Given the description of an element on the screen output the (x, y) to click on. 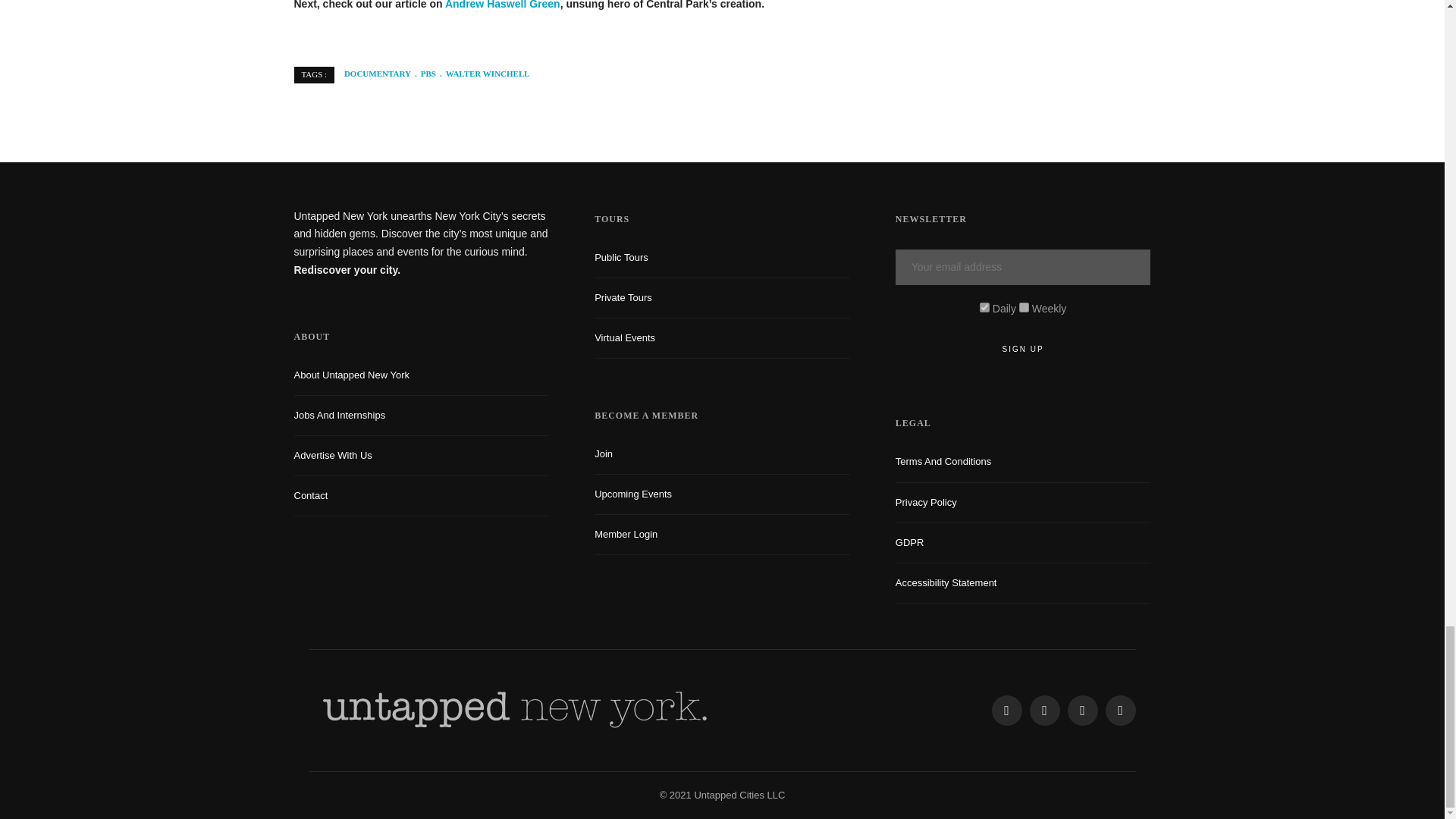
Sign up (1023, 349)
e99a09560c (984, 307)
7cff6a70fd (1024, 307)
